Given the description of an element on the screen output the (x, y) to click on. 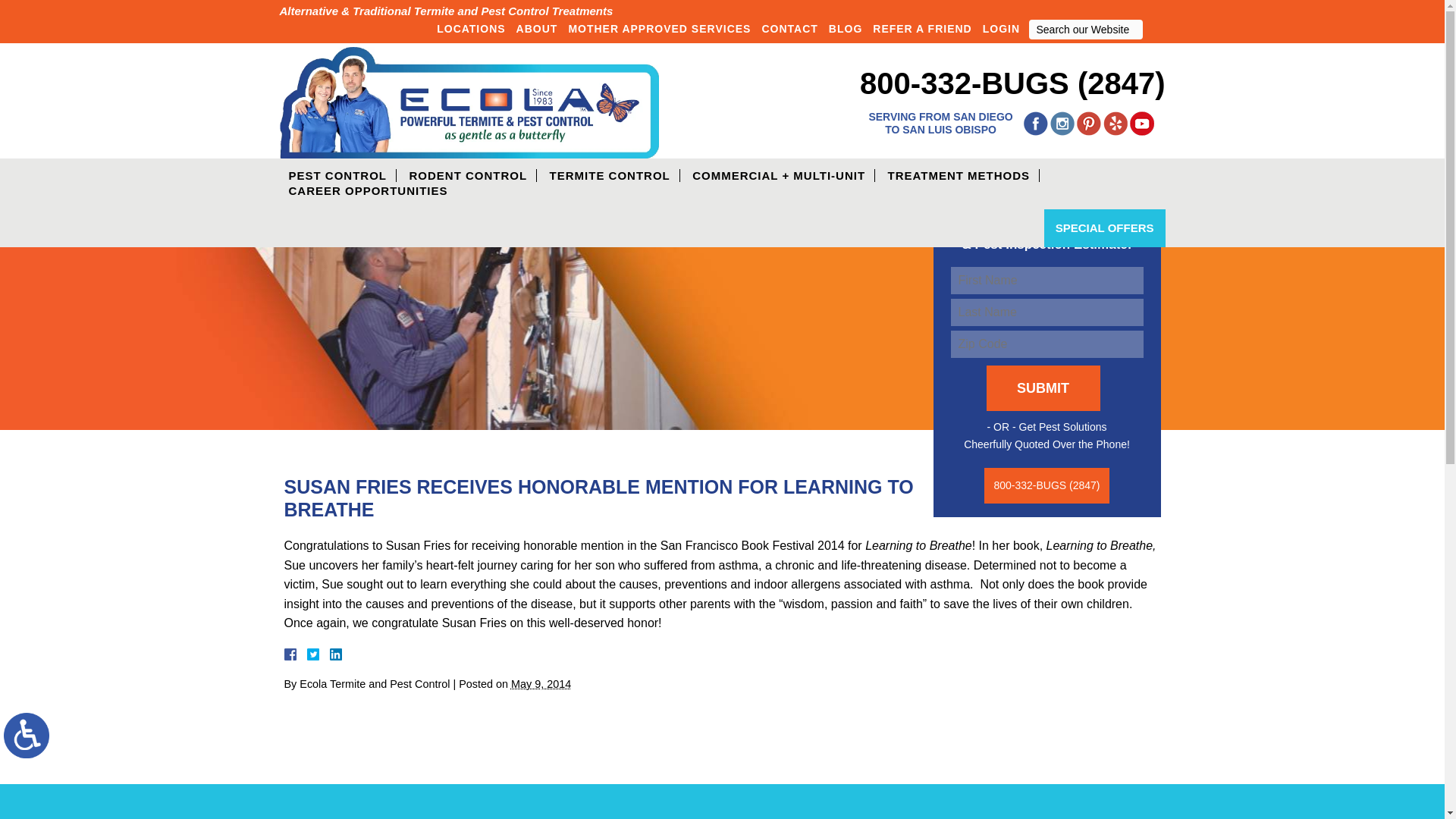
LOCATIONS (470, 28)
CONTACT (788, 28)
BLOG (845, 28)
LinkedIn (328, 654)
2014-05-09T22:49:54-0700 (540, 684)
REFER A FRIEND (921, 28)
Submit (1154, 29)
Switch to ADA Accessible Theme (26, 735)
Submit (1042, 388)
Twitter (318, 654)
LOGIN (1000, 28)
MOTHER APPROVED SERVICES (658, 28)
ABOUT (537, 28)
Facebook (307, 654)
